Given the description of an element on the screen output the (x, y) to click on. 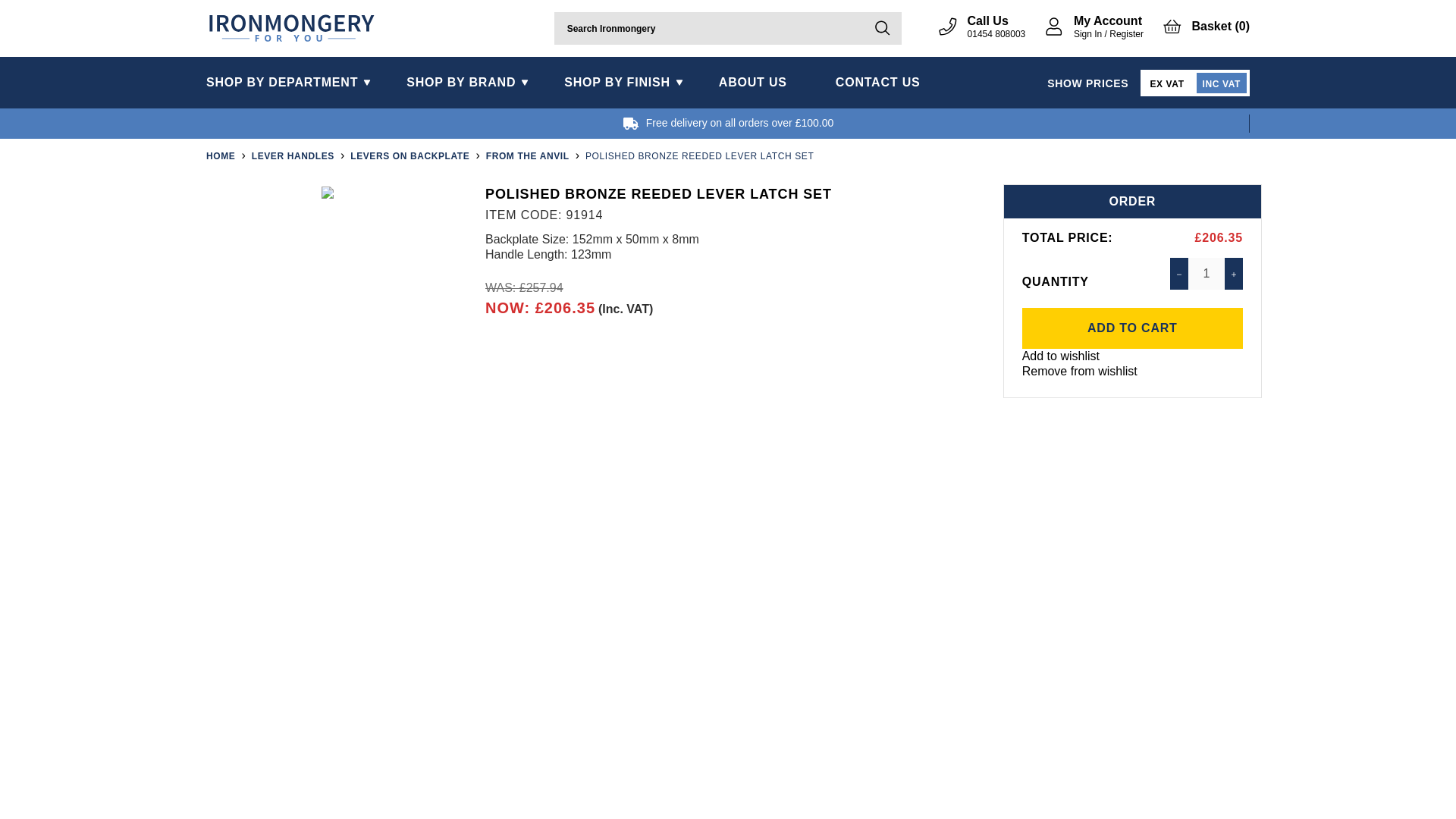
SHOP BY DEPARTMENT (293, 82)
1 (1206, 273)
